Given the description of an element on the screen output the (x, y) to click on. 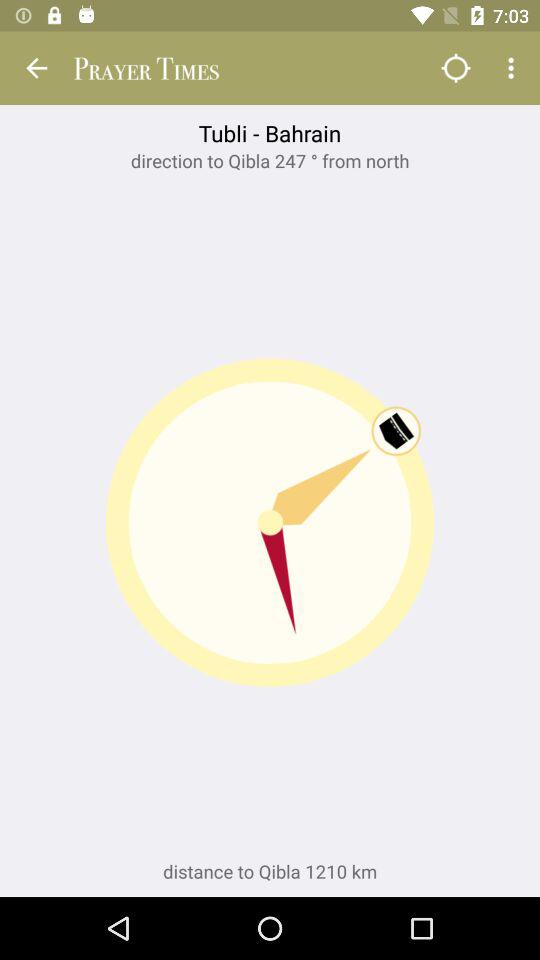
turn on icon above the tubli - bahrain (36, 68)
